Given the description of an element on the screen output the (x, y) to click on. 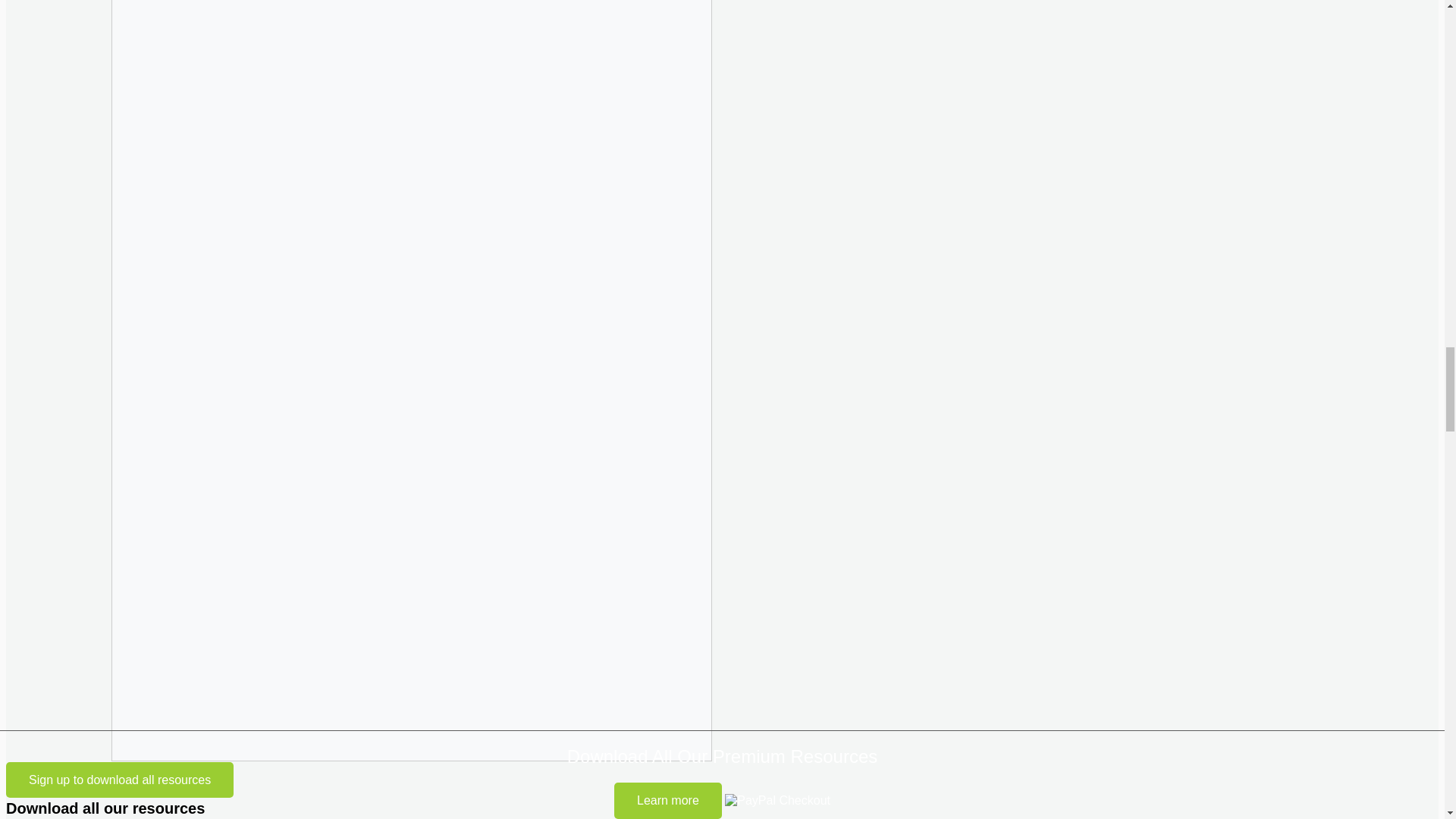
Sign up to download all resources (118, 779)
